Given the description of an element on the screen output the (x, y) to click on. 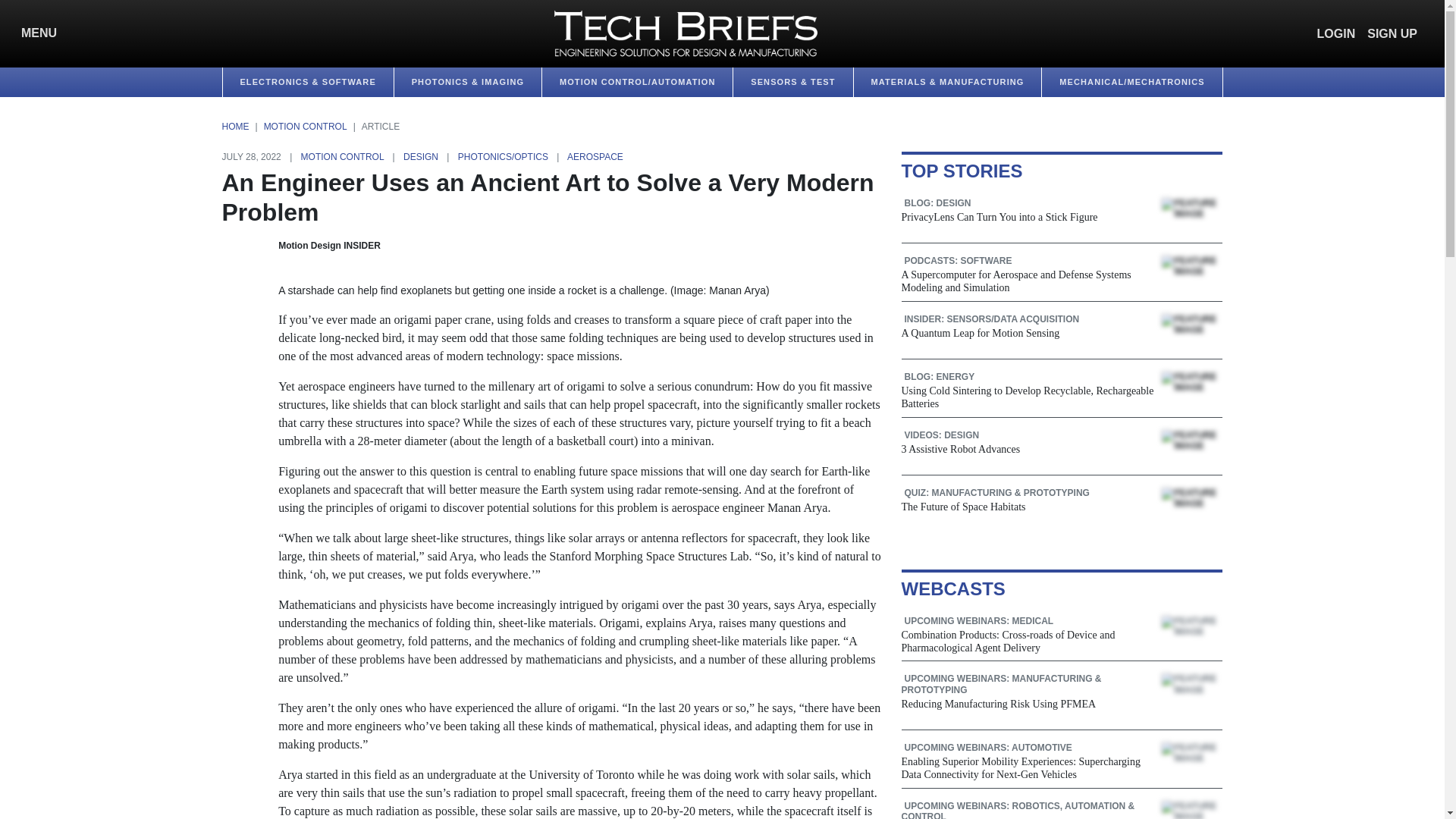
MENU (35, 33)
SIGN UP (1392, 32)
LOGIN (1336, 32)
